Given the description of an element on the screen output the (x, y) to click on. 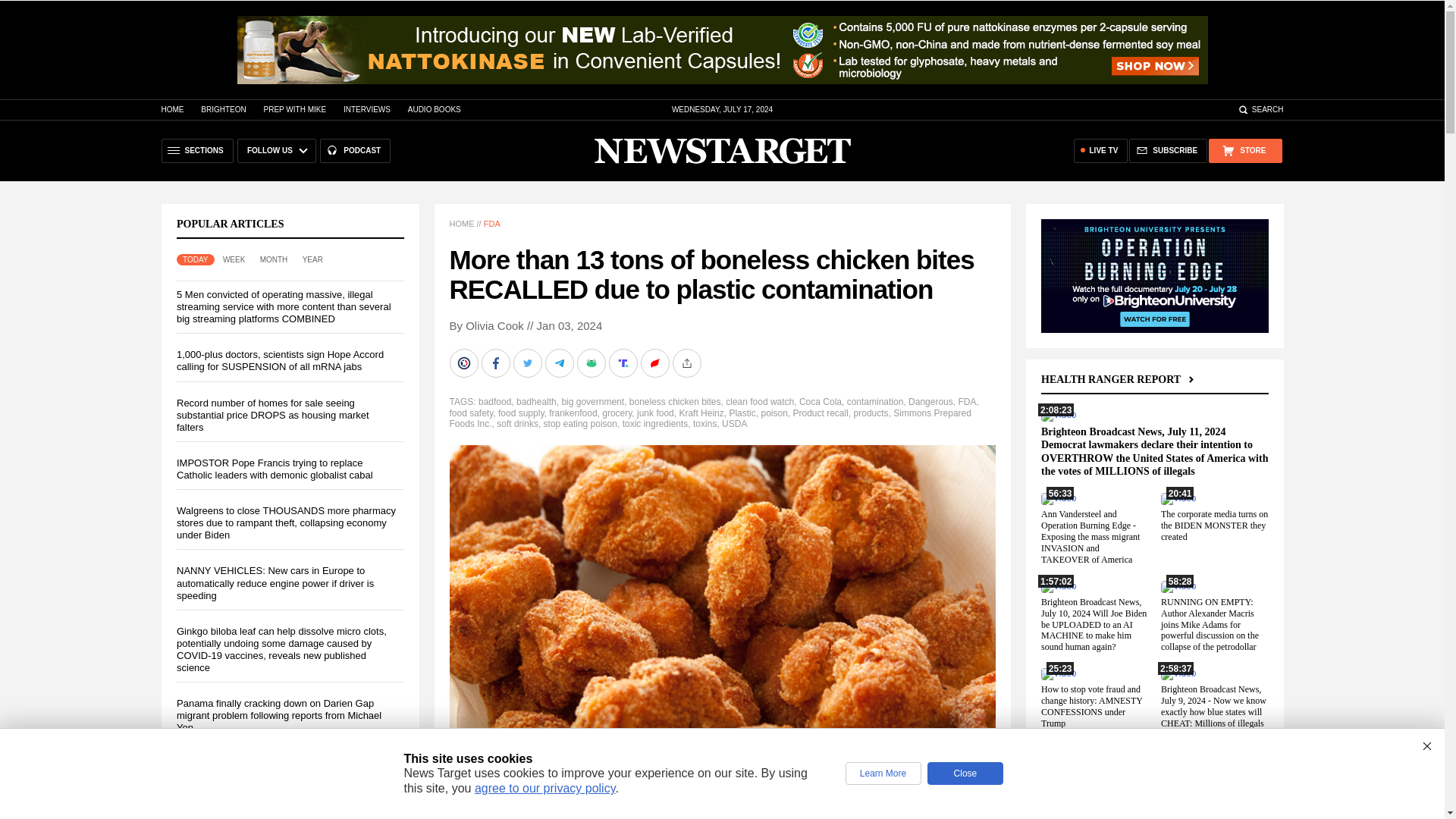
BRIGHTEON (223, 109)
Share on Telegram (560, 362)
AUDIO BOOKS (434, 109)
INTERVIEWS (366, 109)
PREP WITH MIKE (294, 109)
Share on Truth.Social (624, 362)
Share on Twitter (528, 362)
SUBSCRIBE (1168, 150)
